Given the description of an element on the screen output the (x, y) to click on. 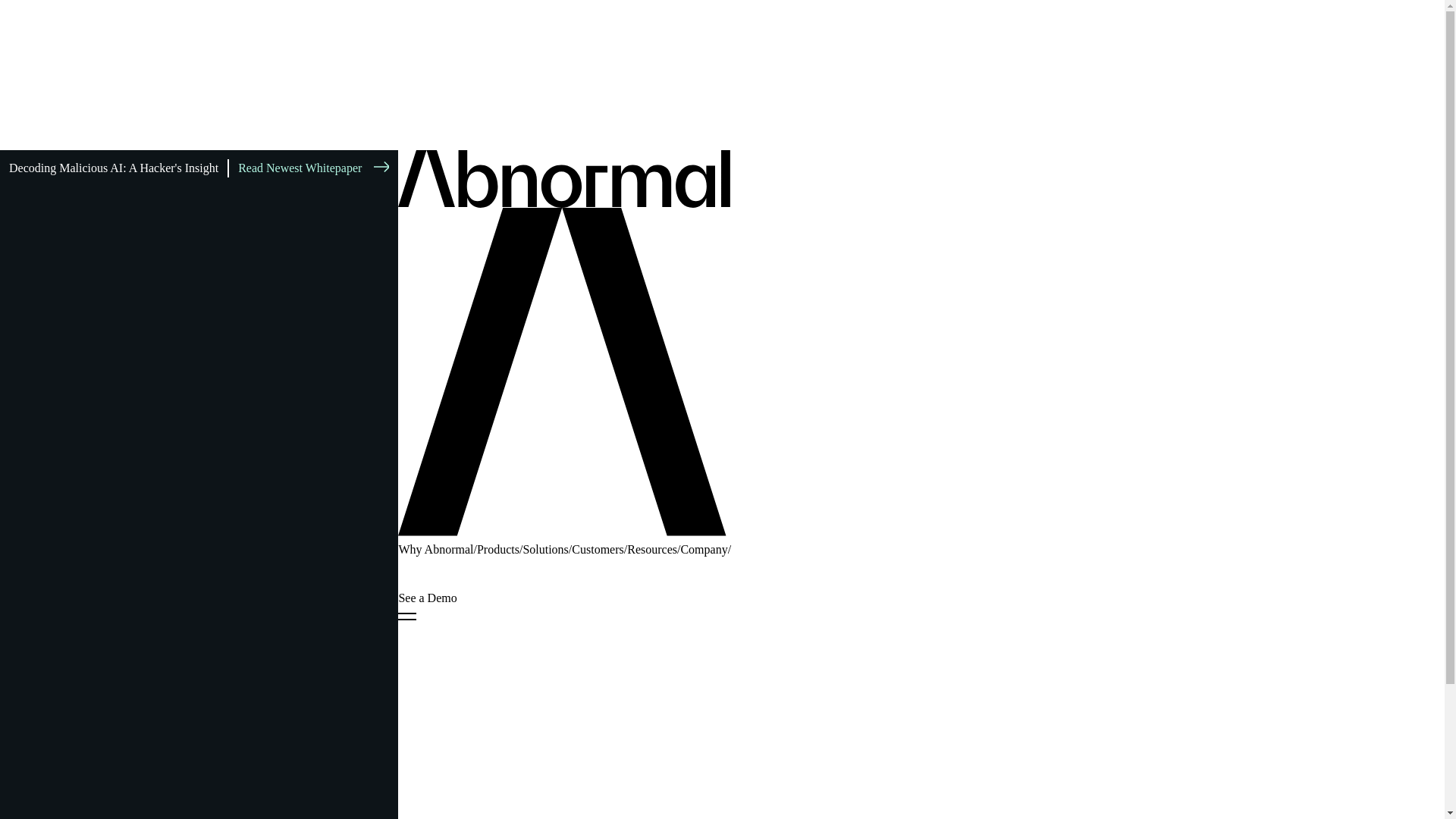
Read Newest Whitepaper (308, 167)
See a Demo (427, 597)
Products (498, 549)
Solutions (544, 549)
Company (702, 549)
Why Abnormal (435, 549)
Resources (652, 549)
Customers (597, 549)
